Given the description of an element on the screen output the (x, y) to click on. 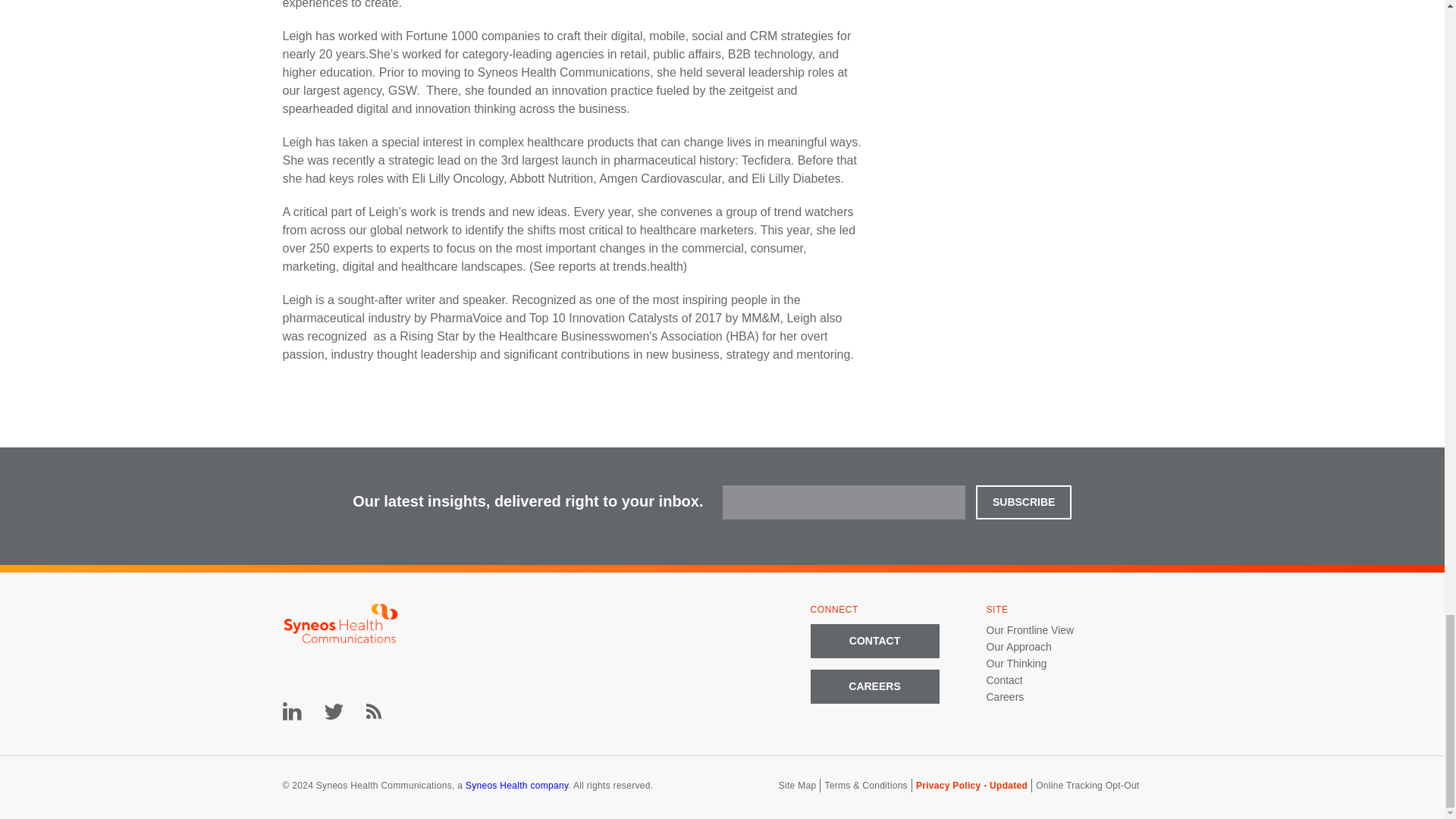
Our Frontline View (1029, 630)
CONTACT (874, 641)
CAREERS (874, 686)
SUBSCRIBE (1023, 502)
Our Thinking (1015, 663)
Our Approach (1018, 646)
